Given the description of an element on the screen output the (x, y) to click on. 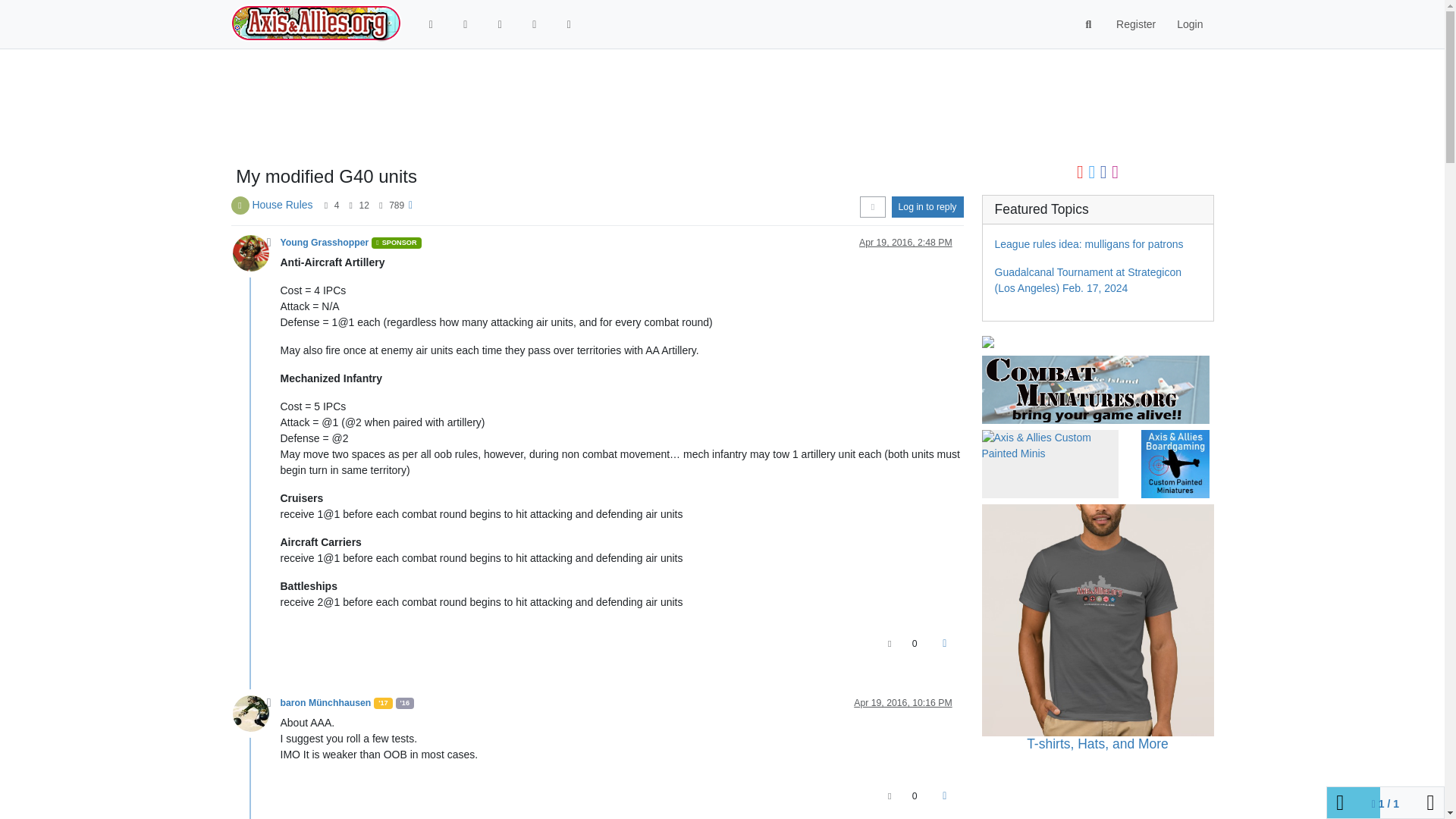
Users (568, 24)
Login (1189, 24)
House Rules (282, 204)
Popular (533, 24)
Register (1135, 24)
Advertisement (662, 107)
Search (1088, 24)
Home (430, 24)
SPONSOR (395, 243)
Apr 19, 2016, 2:48 PM (905, 242)
Recent (498, 24)
Young Grasshopper (325, 242)
Posters (325, 204)
Categories (465, 24)
Log in to reply (927, 206)
